Given the description of an element on the screen output the (x, y) to click on. 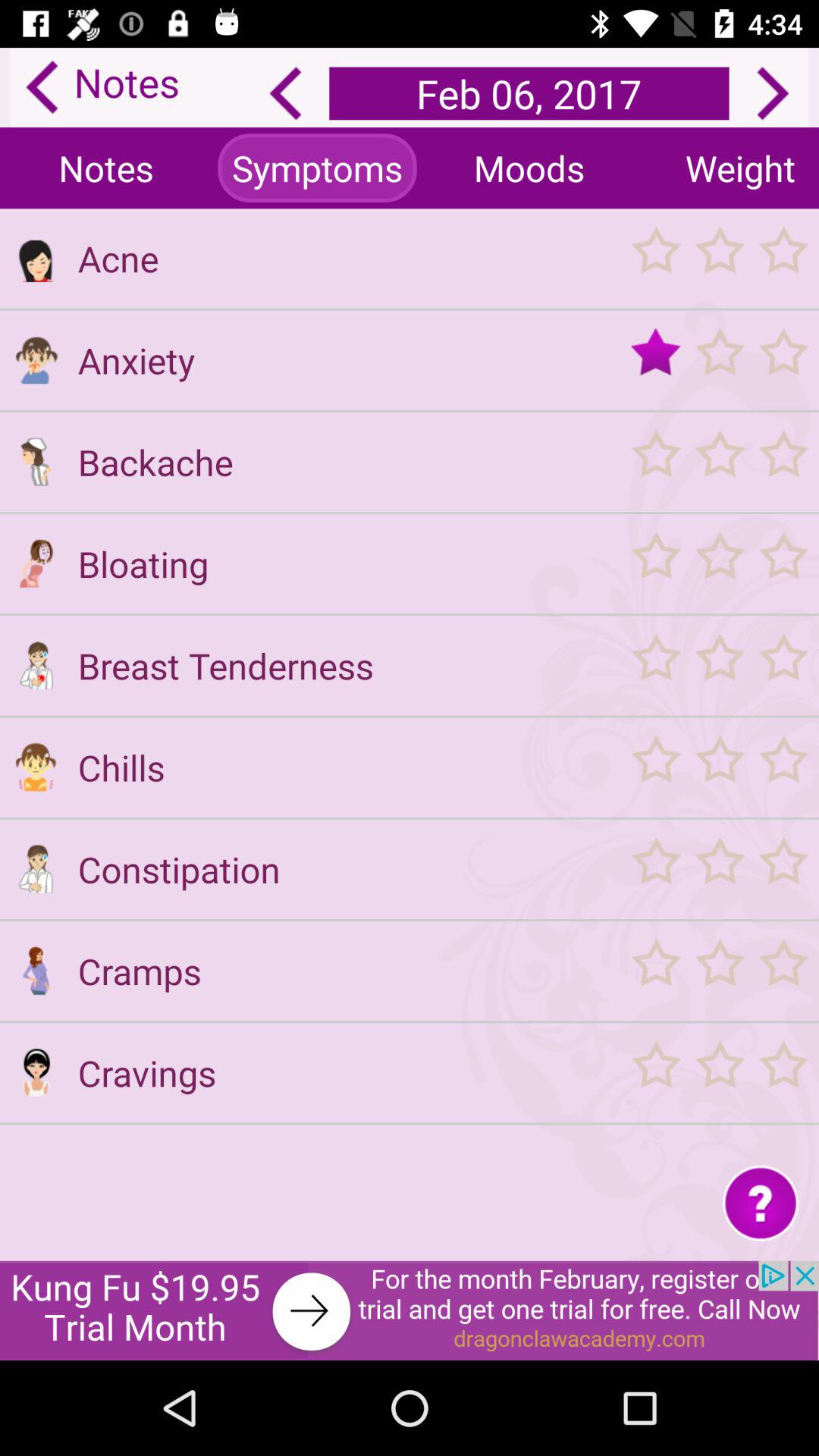
rate anxiety level (719, 359)
